Given the description of an element on the screen output the (x, y) to click on. 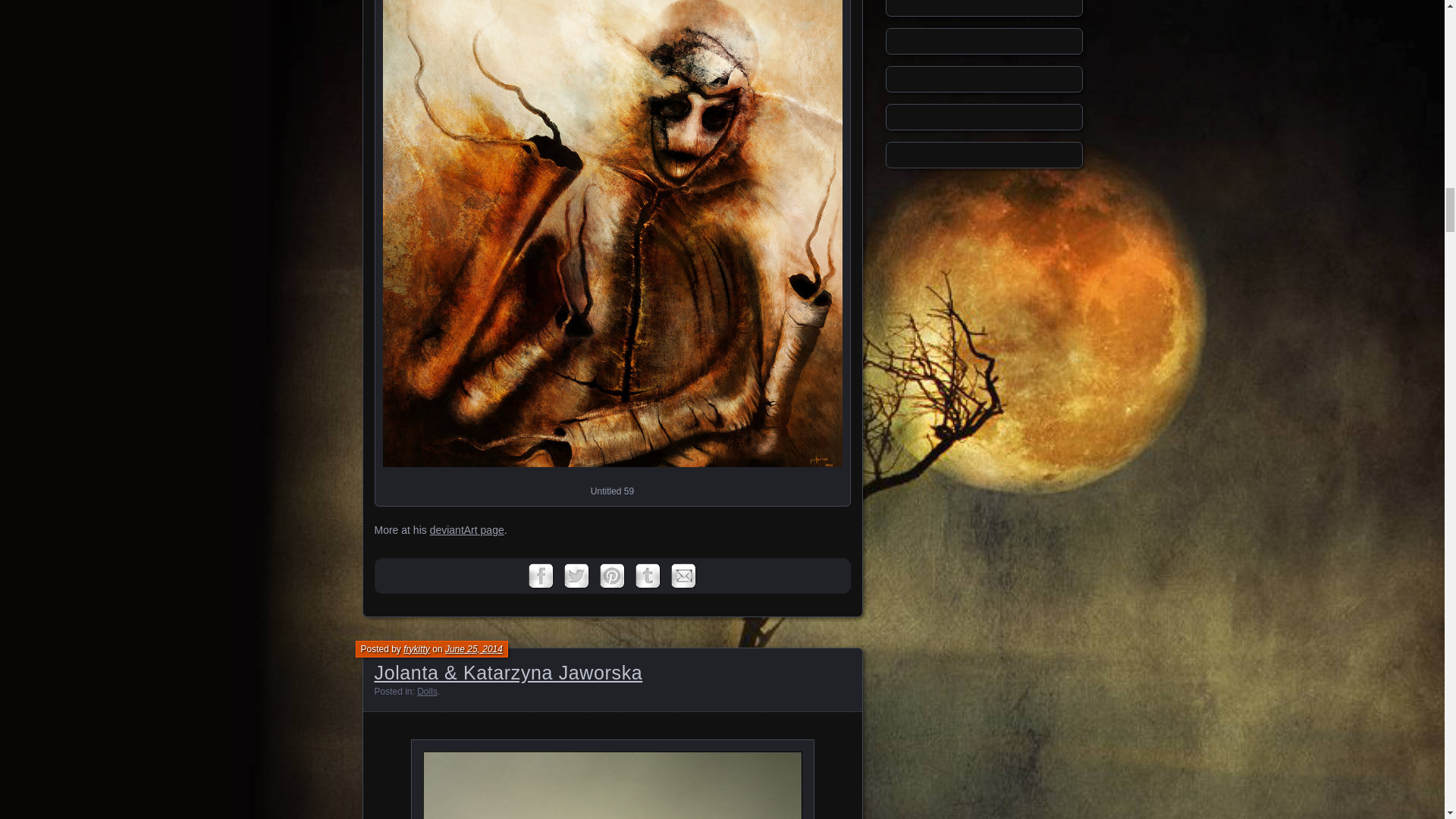
deviantArt page (466, 530)
June 25, 2014 (473, 648)
frykitty (416, 648)
Dolls (427, 691)
